Given the description of an element on the screen output the (x, y) to click on. 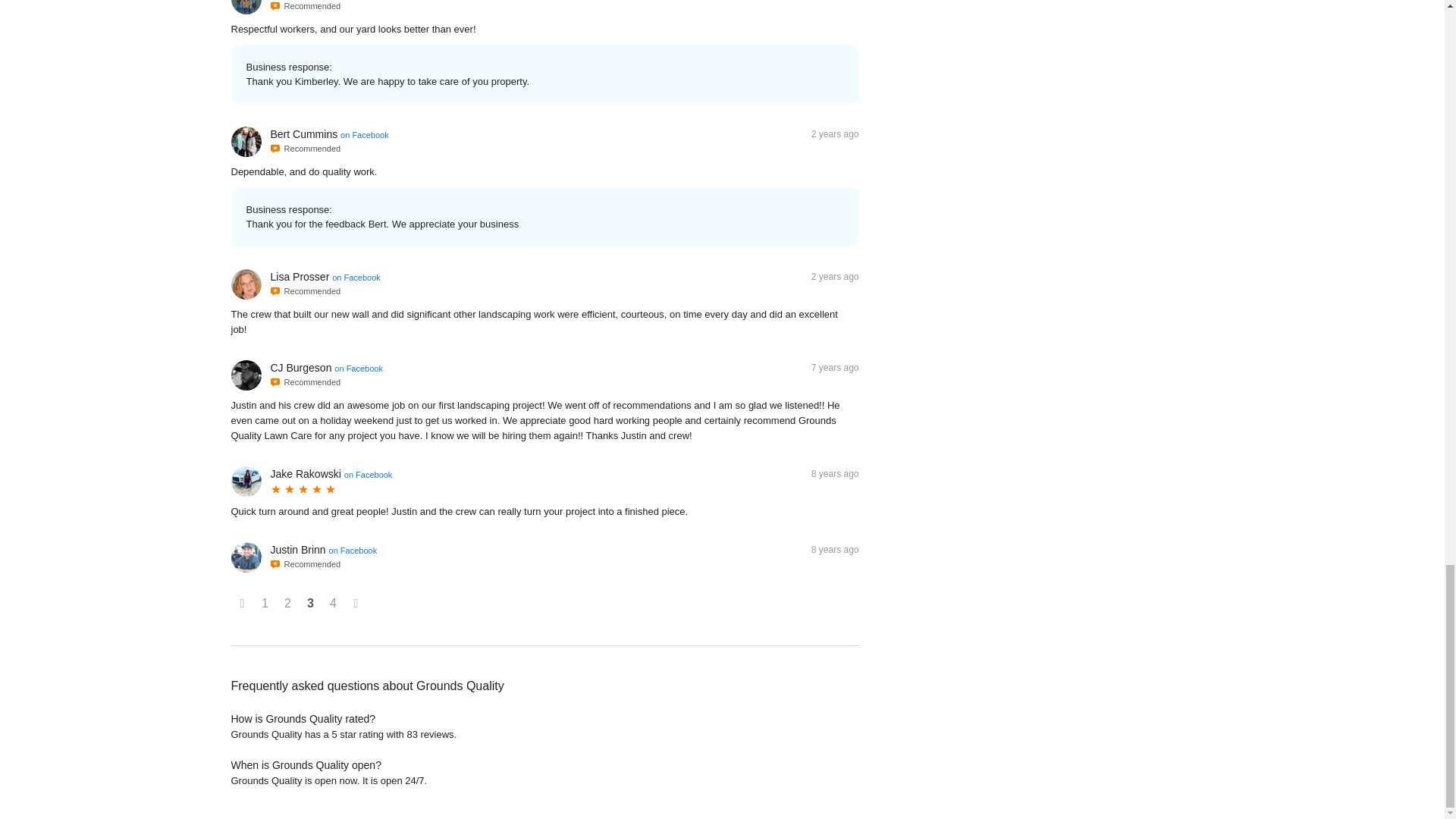
3 (310, 603)
on Facebook (358, 368)
on Facebook (355, 277)
on Facebook (368, 474)
on Facebook (364, 134)
on Facebook (353, 550)
4 (333, 603)
2 (288, 603)
1 (265, 603)
